Given the description of an element on the screen output the (x, y) to click on. 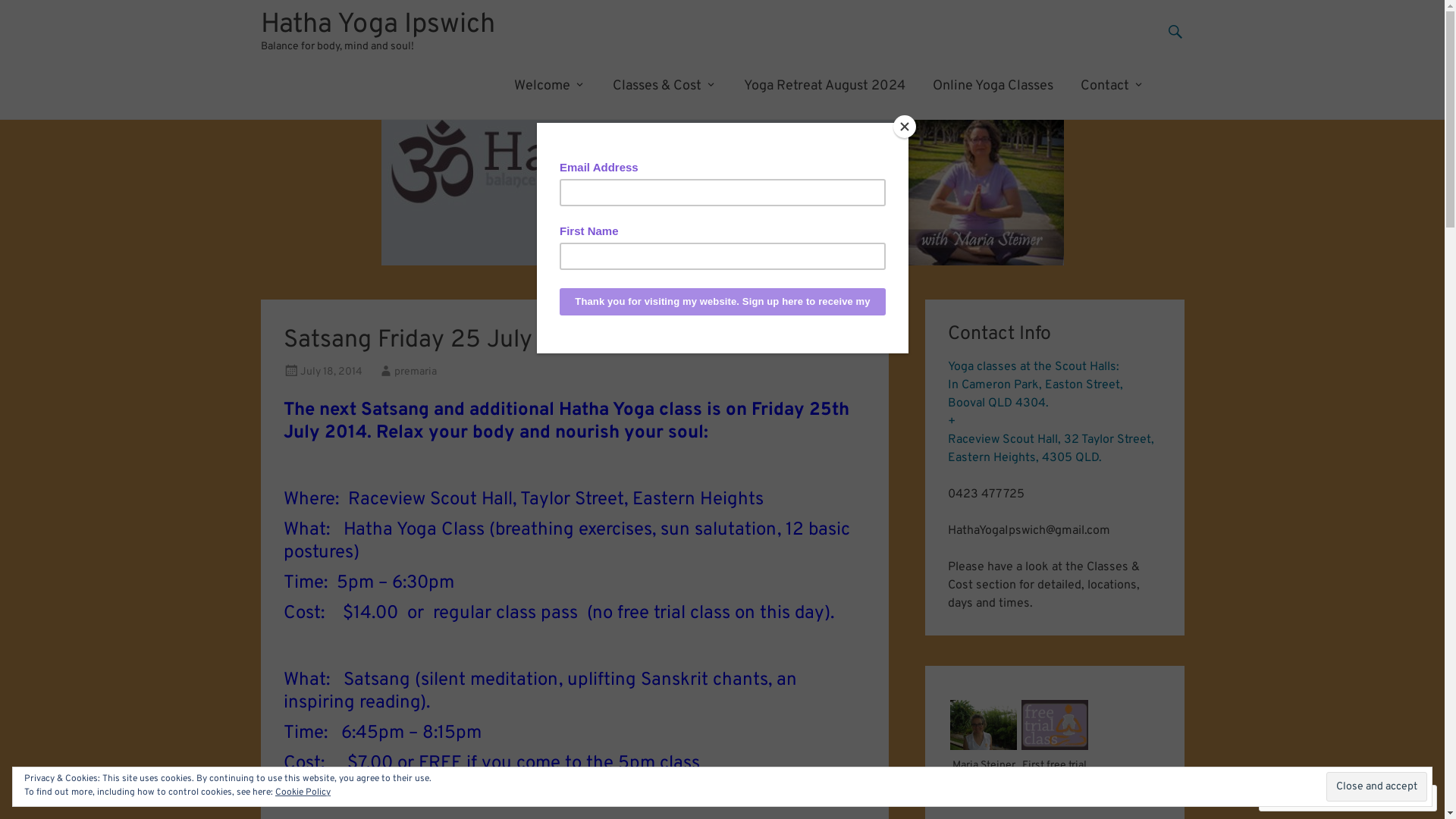
Cookie Policy Element type: text (302, 792)
Welcome Element type: text (549, 86)
July 18, 2014 Element type: text (331, 371)
Hatha Yoga Ipswich Element type: text (377, 24)
Follow Element type: text (1374, 797)
Comment Element type: text (1300, 797)
Online Yoga Classes Element type: text (992, 86)
Classes & Cost Element type: text (664, 86)
premaria Element type: text (415, 371)
Contact Element type: text (1111, 86)
Close and accept Element type: text (1376, 786)
Yoga Retreat August 2024 Element type: text (823, 86)
